Given the description of an element on the screen output the (x, y) to click on. 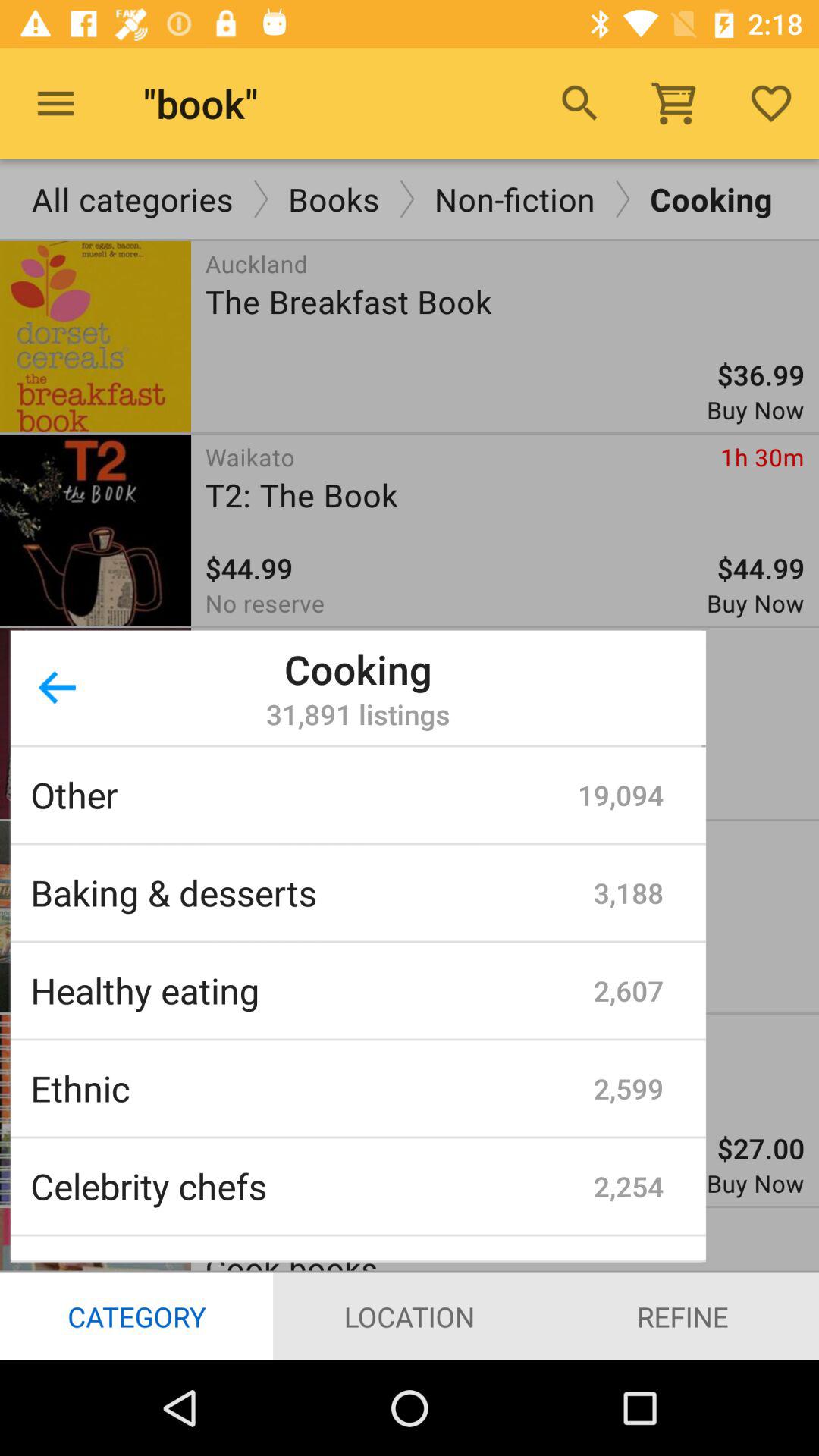
press the item to the left of 3,188 (311, 892)
